Given the description of an element on the screen output the (x, y) to click on. 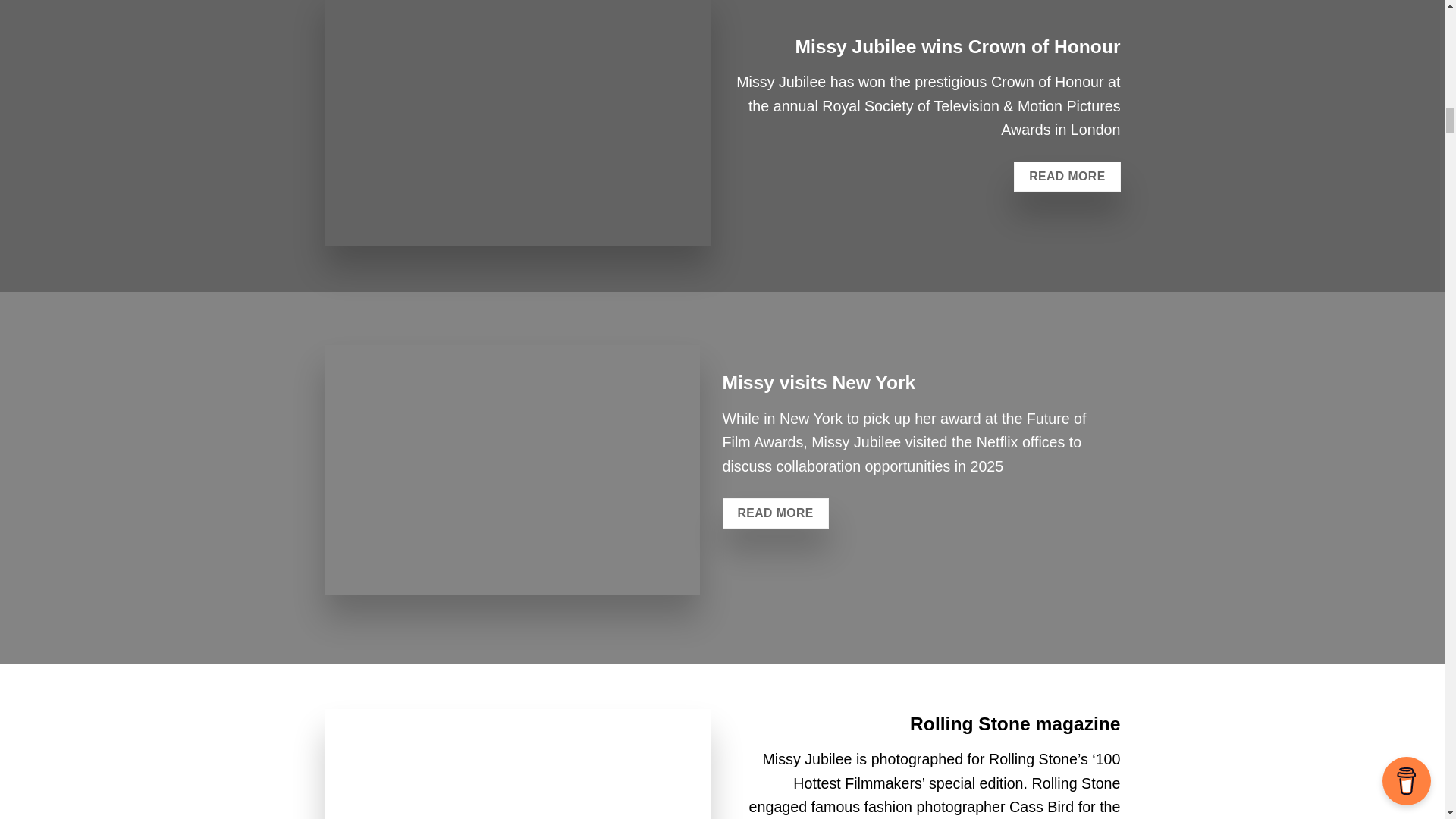
Home (517, 764)
Home (517, 123)
Home (512, 469)
READ MORE (775, 512)
READ MORE (1066, 176)
